Given the description of an element on the screen output the (x, y) to click on. 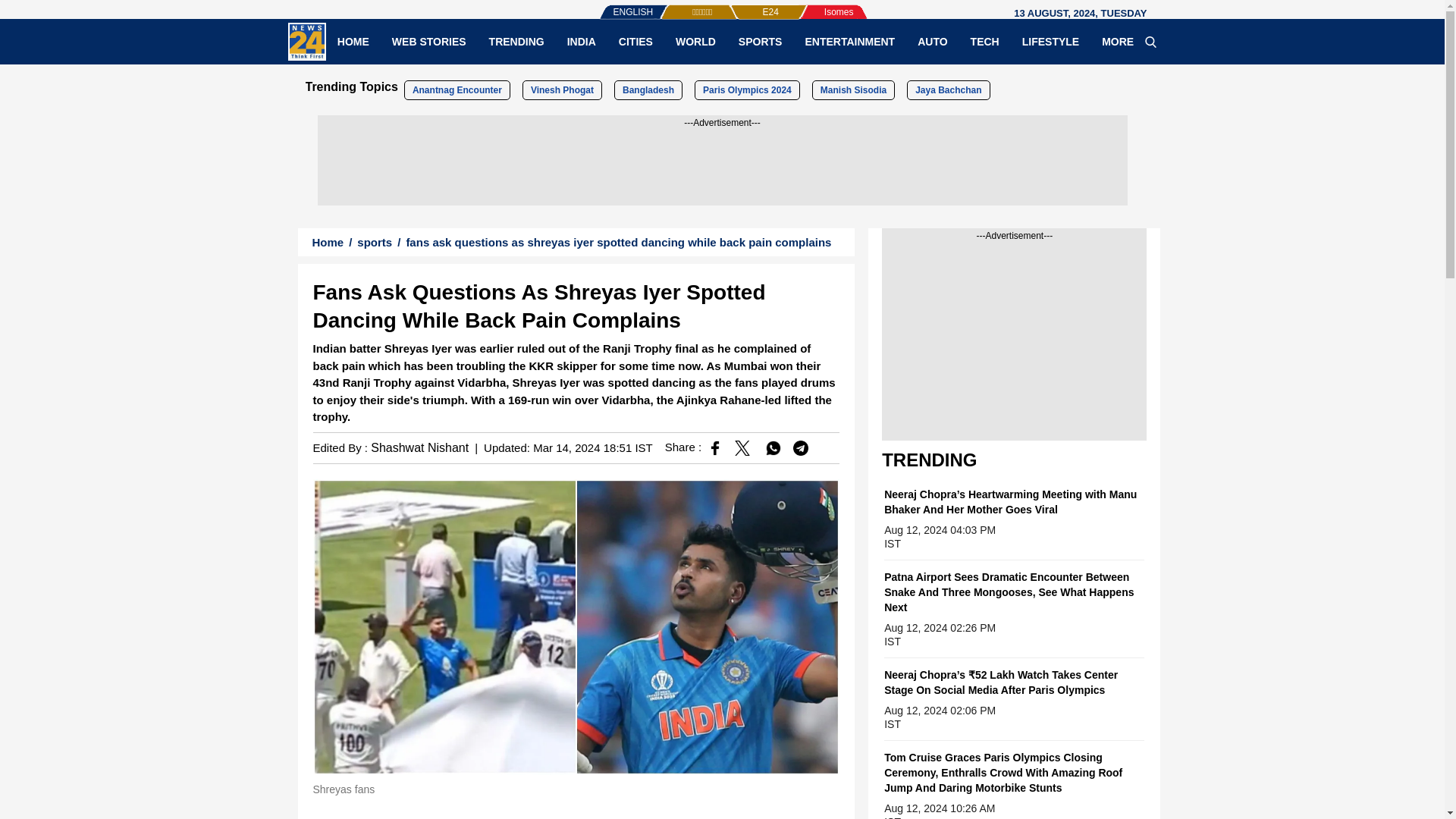
HOME (353, 41)
SPORTS (759, 41)
INDIA (581, 41)
ENTERTAINMENT (849, 41)
E24 (744, 4)
TRENDING (516, 41)
ENGLISH (601, 4)
CITIES (635, 41)
WORLD (694, 41)
